Given the description of an element on the screen output the (x, y) to click on. 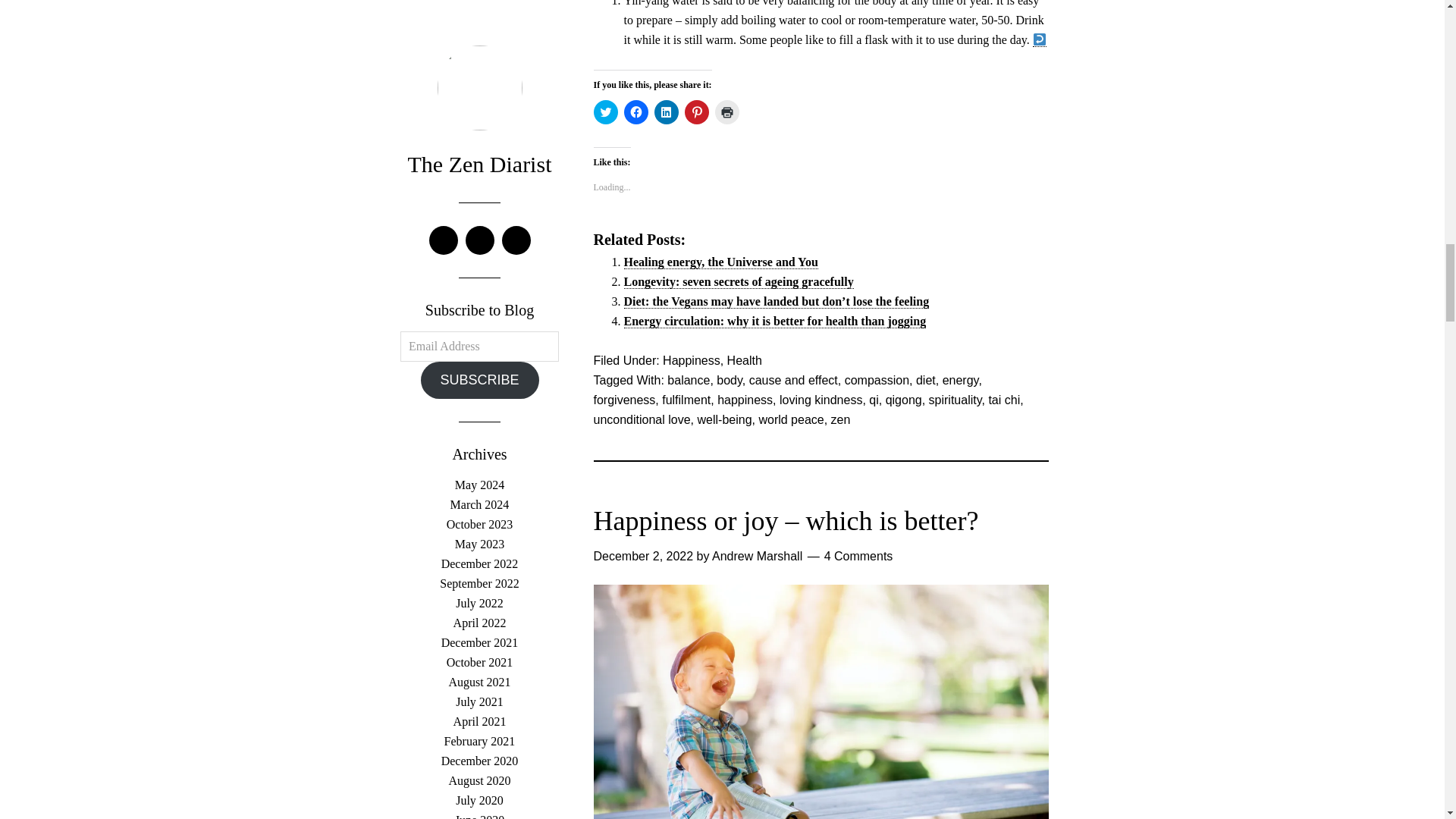
Click to share on Twitter (604, 111)
Click to share on Facebook (635, 111)
Click to print (726, 111)
Click to share on Pinterest (695, 111)
Click to share on LinkedIn (665, 111)
